Given the description of an element on the screen output the (x, y) to click on. 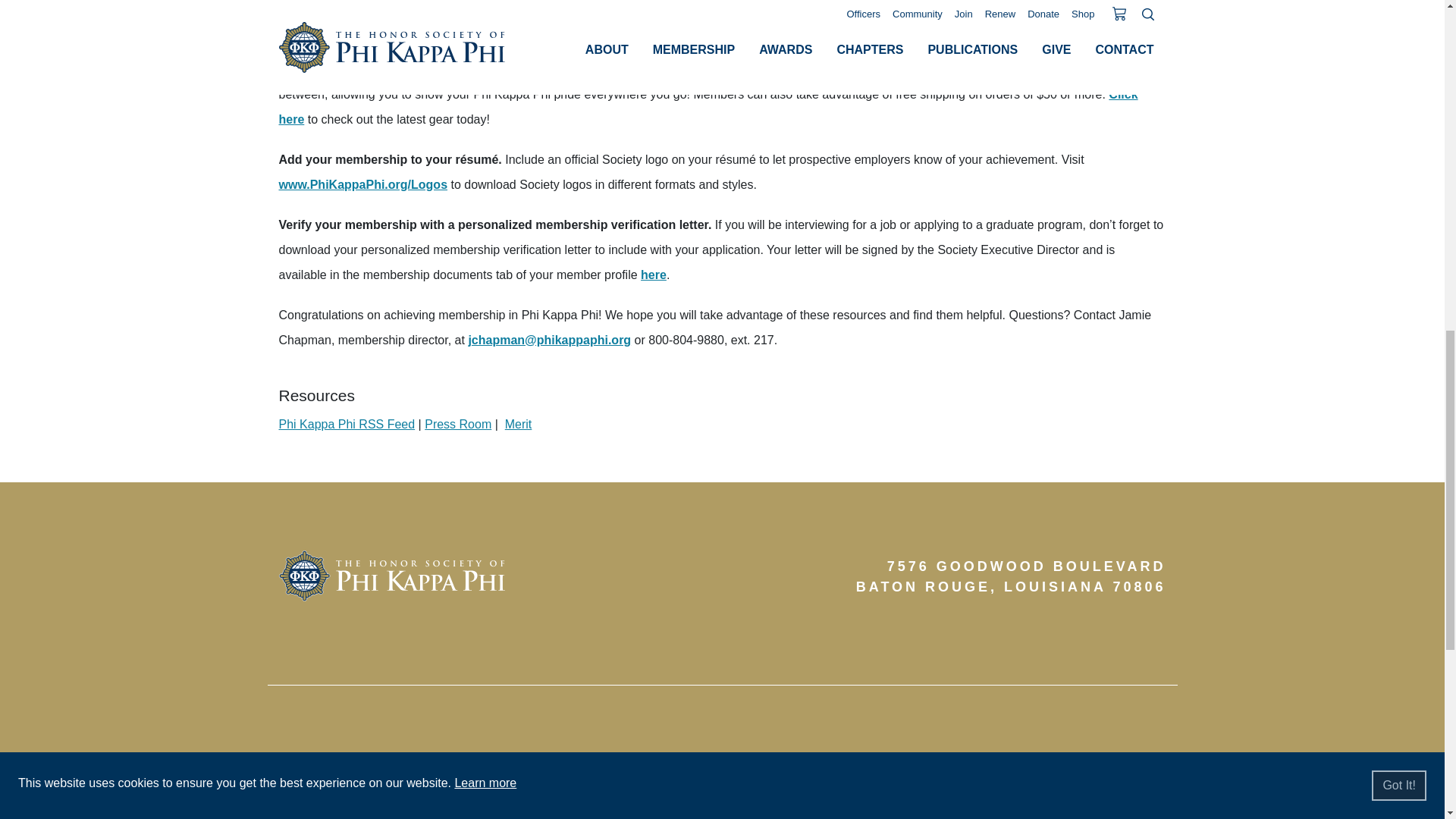
candid-seal-gold-2024 (1089, 796)
